Given the description of an element on the screen output the (x, y) to click on. 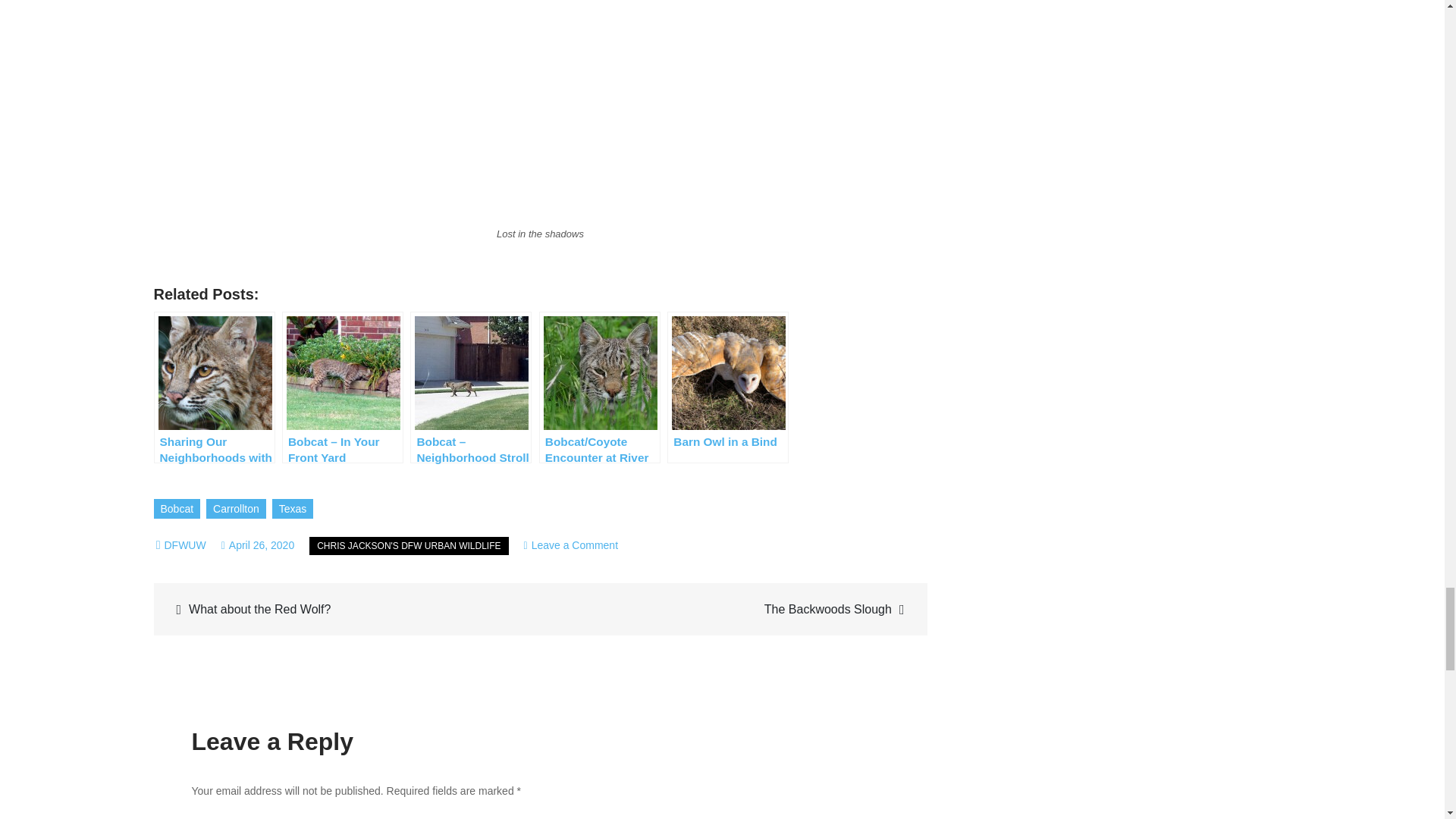
Bobcat (176, 508)
Carrollton (571, 544)
CHRIS JACKSON'S DFW URBAN WILDLIFE (236, 508)
Texas (408, 546)
April 26, 2020 (293, 508)
DFWUW (258, 544)
The Backwoods Slough (184, 544)
What about the Red Wolf? (731, 608)
